Given the description of an element on the screen output the (x, y) to click on. 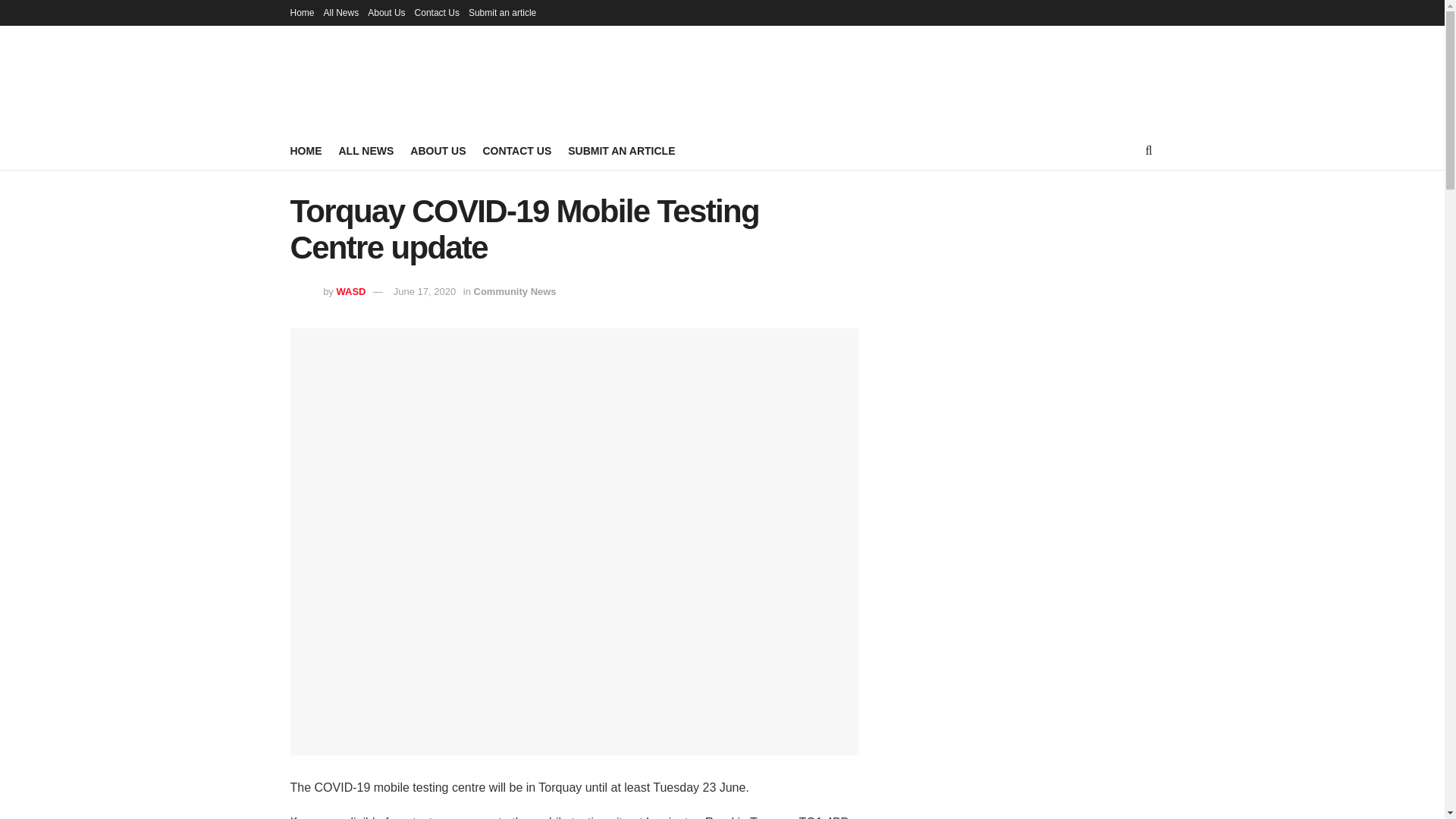
CONTACT US (516, 150)
Community News (515, 291)
June 17, 2020 (424, 291)
All News (341, 12)
ABOUT US (437, 150)
Home (301, 12)
Submit an article (501, 12)
Contact Us (437, 12)
SUBMIT AN ARTICLE (621, 150)
WASD (350, 291)
